Given the description of an element on the screen output the (x, y) to click on. 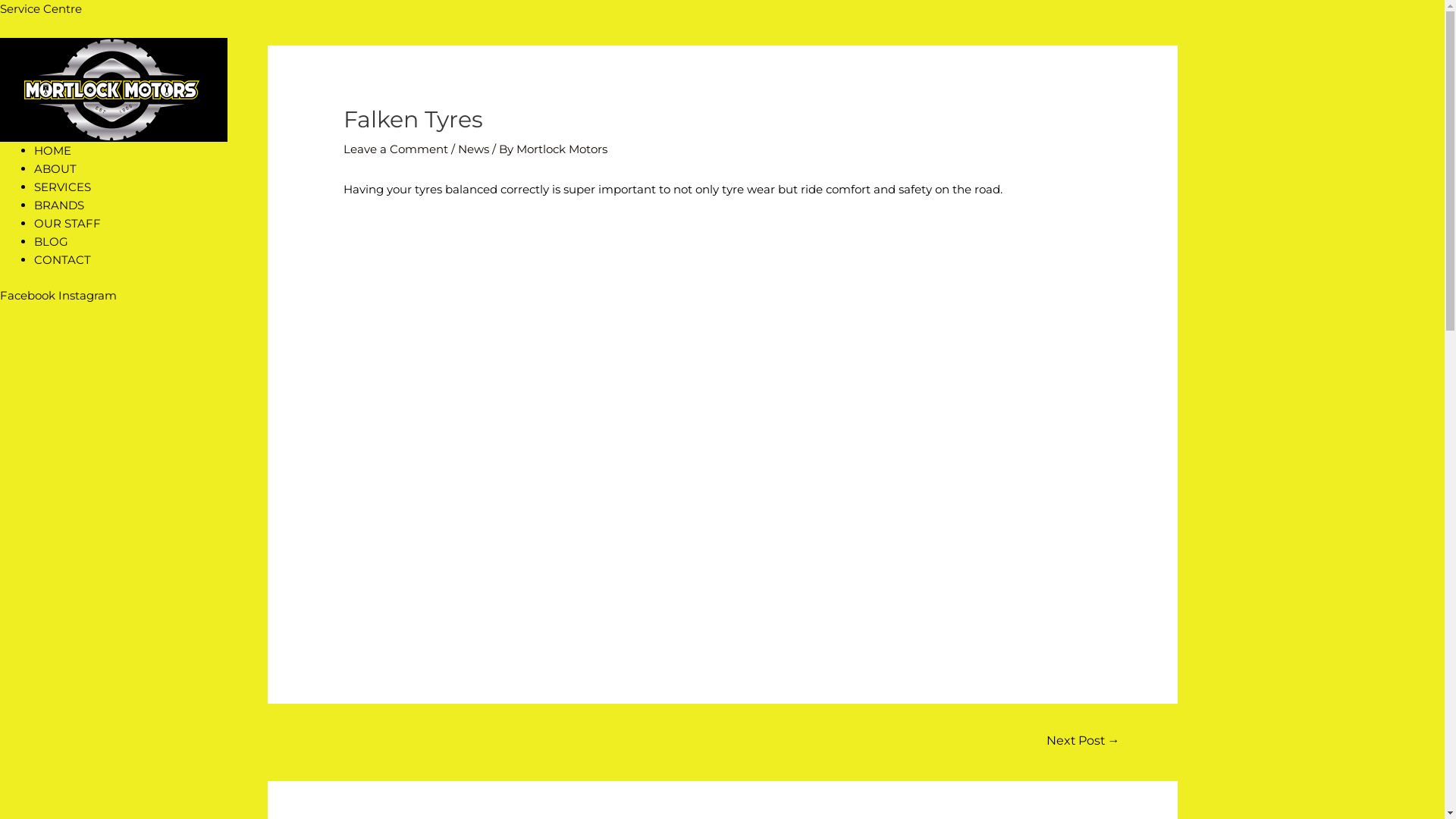
Mortlock Motors Element type: text (561, 148)
Facebook Element type: text (29, 295)
Falken Tyres  - Wheel Balancing Element type: hover (722, 429)
News Element type: text (473, 148)
BLOG Element type: text (51, 241)
SERVICES Element type: text (62, 186)
BRANDS Element type: text (59, 204)
Instagram Element type: text (87, 295)
OUR STAFF Element type: text (67, 223)
CONTACT Element type: text (62, 259)
Service Centre Element type: text (40, 8)
ABOUT Element type: text (55, 168)
HOME Element type: text (52, 150)
Leave a Comment Element type: text (395, 148)
